Given the description of an element on the screen output the (x, y) to click on. 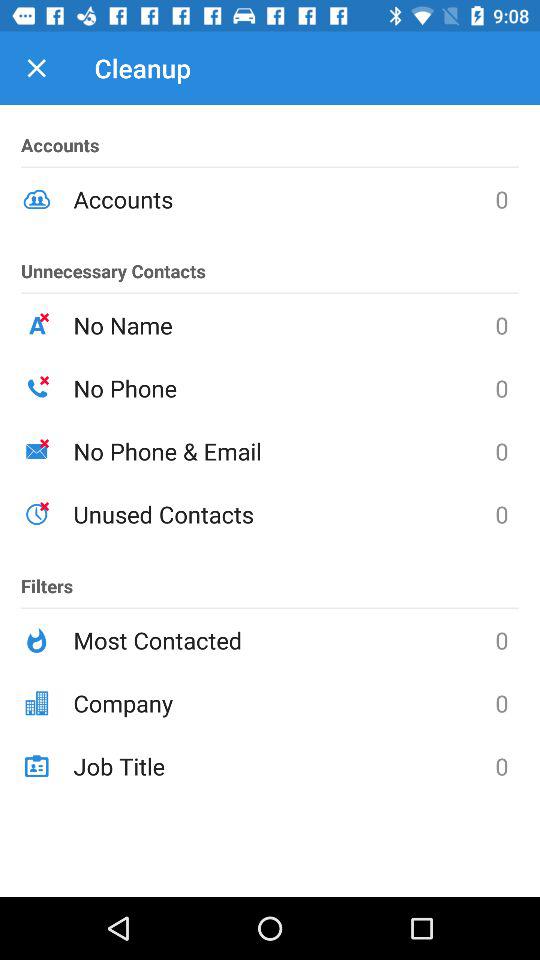
turn on the item next to the 0 (284, 325)
